Given the description of an element on the screen output the (x, y) to click on. 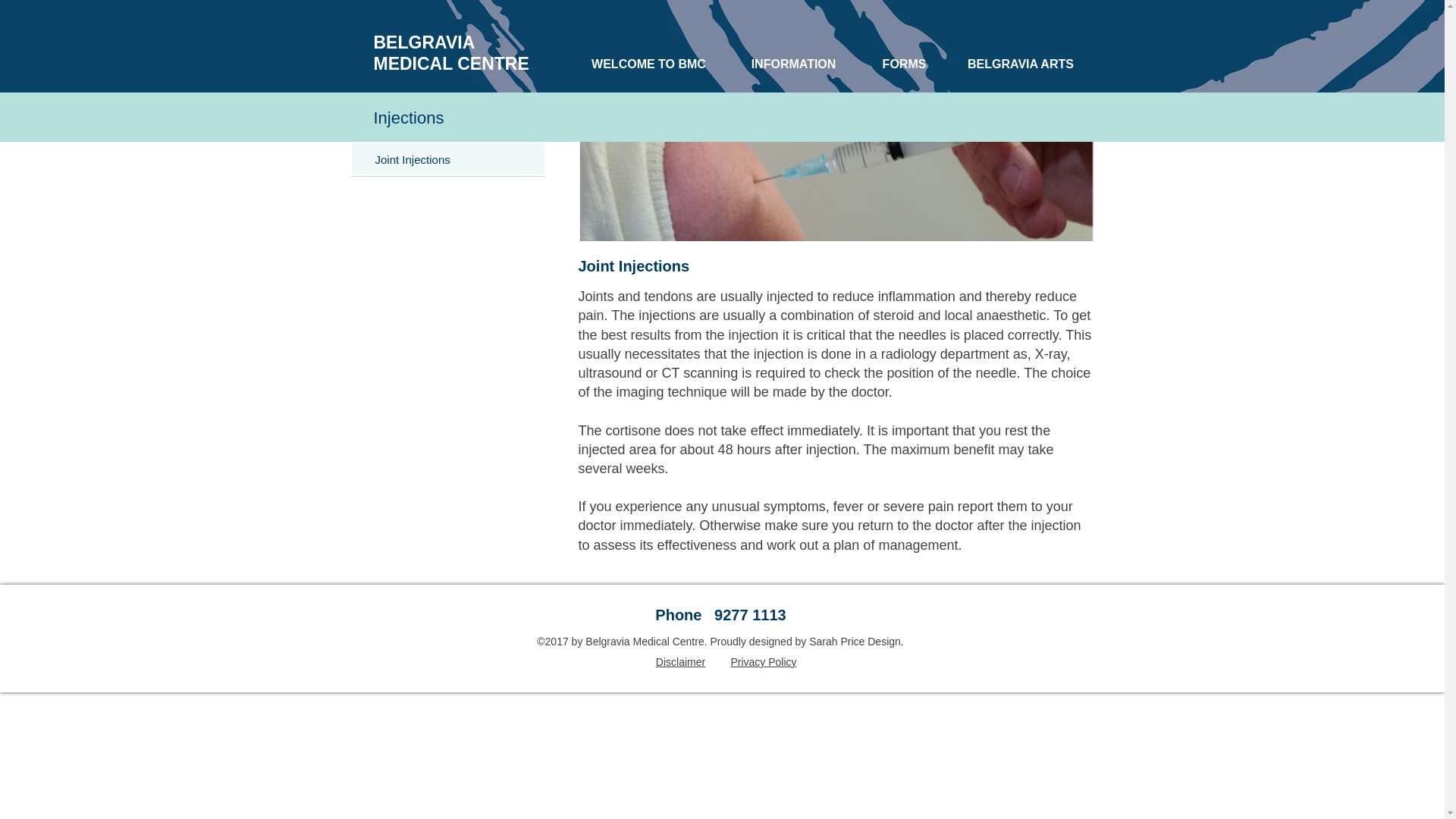
BELGRAVIA ARTS (1020, 64)
MEDICAL CENTRE (450, 63)
FORMS (903, 64)
BELGRAVIA (423, 42)
Privacy Policy (763, 662)
INFORMATION (793, 64)
WELCOME TO BMC (648, 64)
Disclaimer (680, 662)
